Given the description of an element on the screen output the (x, y) to click on. 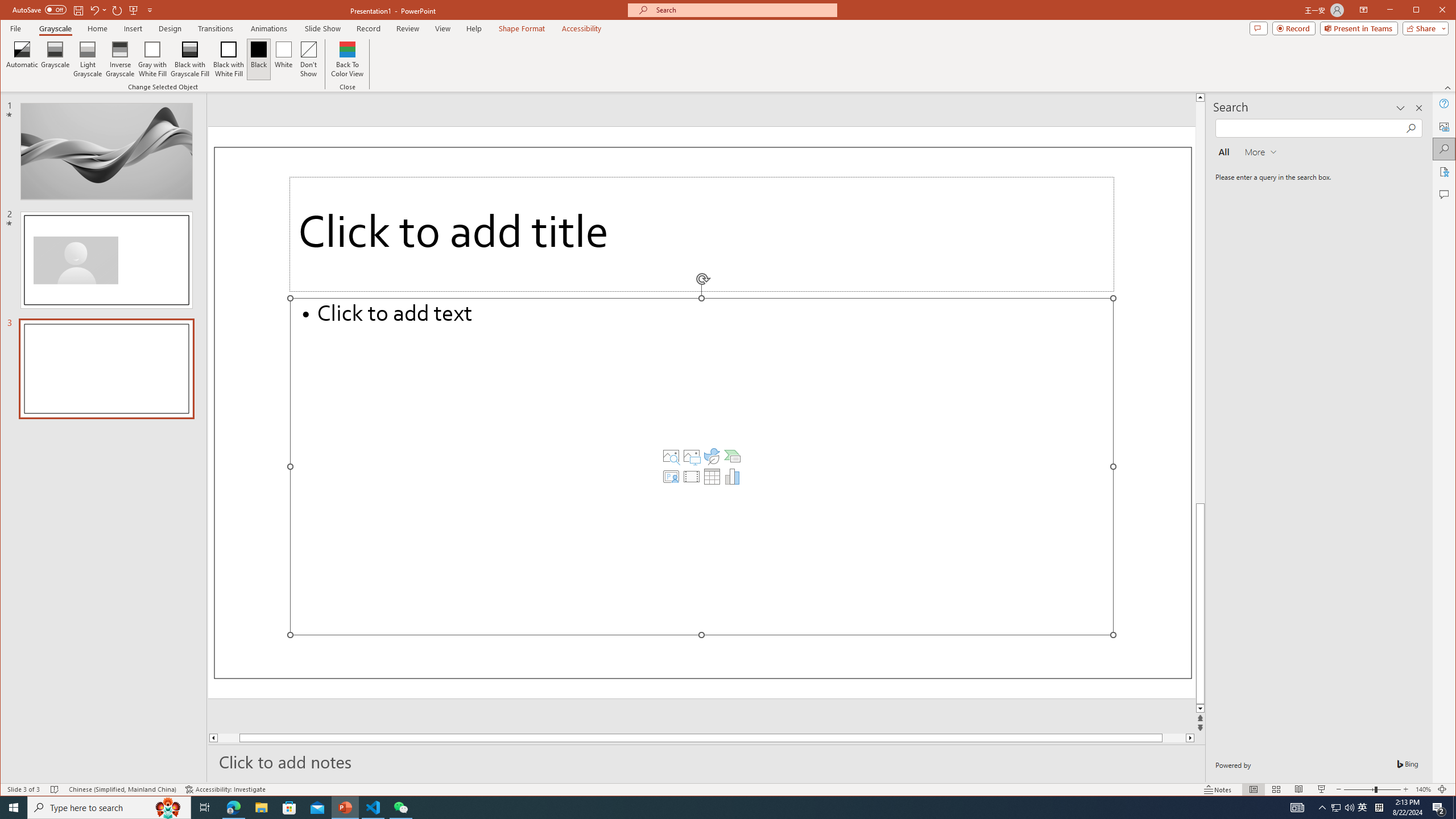
Microsoft search (742, 10)
System (10, 10)
Ribbon Display Options (1364, 9)
Redo (117, 9)
Black with Grayscale Fill (189, 59)
Zoom Out (1358, 789)
Pictures (691, 456)
Q2790: 100% (1349, 807)
Accessibility Checker Accessibility: Investigate (225, 789)
WeChat - 1 running window (400, 807)
Grayscale (55, 59)
Microsoft Edge - 1 running window (1362, 807)
